Given the description of an element on the screen output the (x, y) to click on. 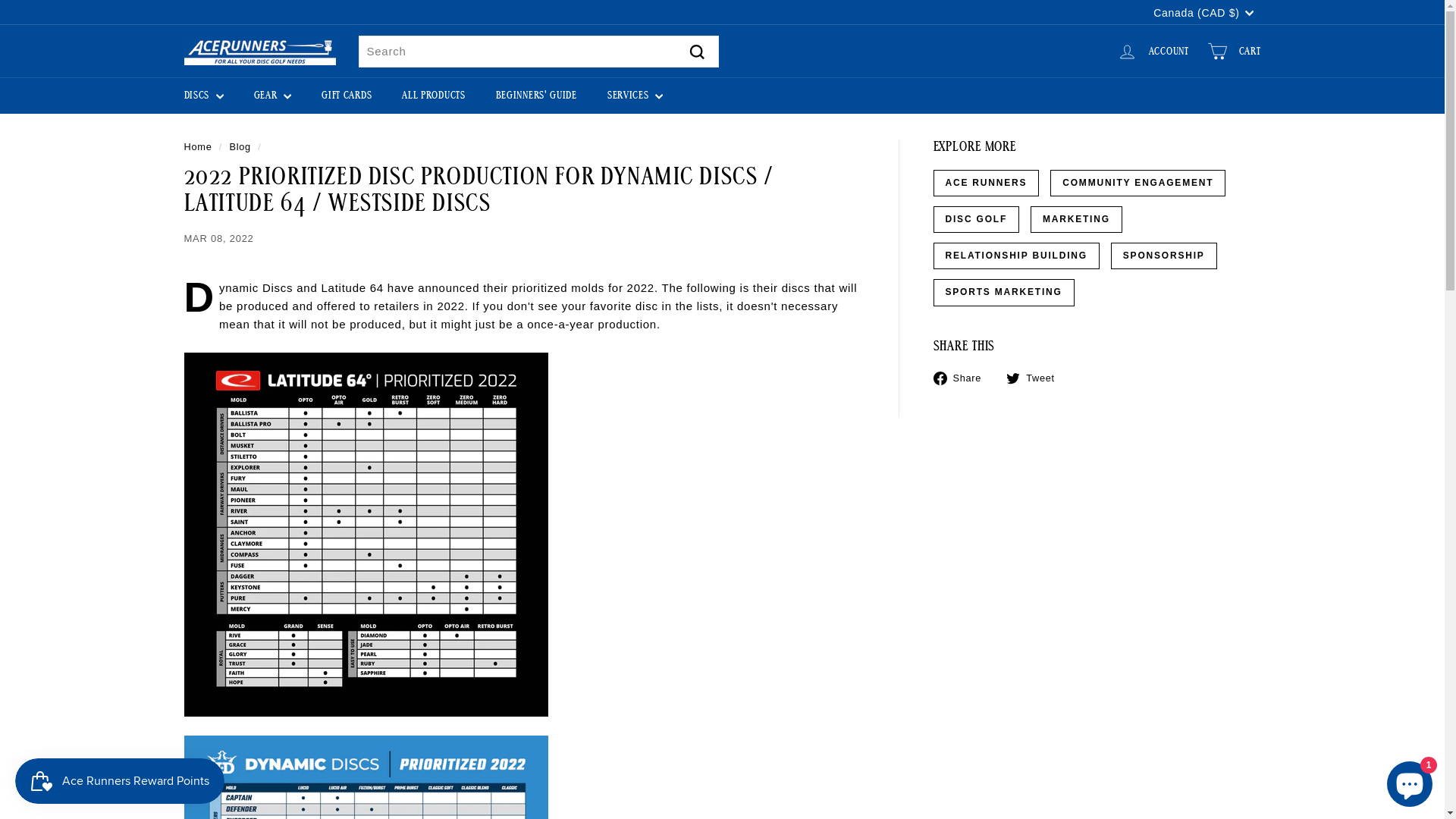
MARKETING Element type: text (1076, 219)
DISC GOLF Element type: text (975, 219)
Canada (CAD $) Element type: text (1202, 12)
Blog Element type: text (240, 146)
twitter Tweet
Tweet on Twitter Element type: text (1036, 377)
Home Element type: text (197, 146)
ACCOUNT Element type: text (1152, 50)
ALL PRODUCTS Element type: text (433, 94)
Share
Share on Facebook Element type: text (962, 377)
COMMUNITY ENGAGEMENT Element type: text (1137, 182)
Shopify online store chat Element type: hover (1409, 780)
SPORTS MARKETING Element type: text (1002, 292)
SPONSORSHIP Element type: text (1163, 255)
GIFT CARDS Element type: text (346, 94)
BEGINNERS' GUIDE Element type: text (536, 94)
CART Element type: text (1234, 50)
Smile.io Rewards Program Launcher Element type: hover (119, 780)
RELATIONSHIP BUILDING Element type: text (1015, 255)
ACE RUNNERS Element type: text (985, 182)
